Given the description of an element on the screen output the (x, y) to click on. 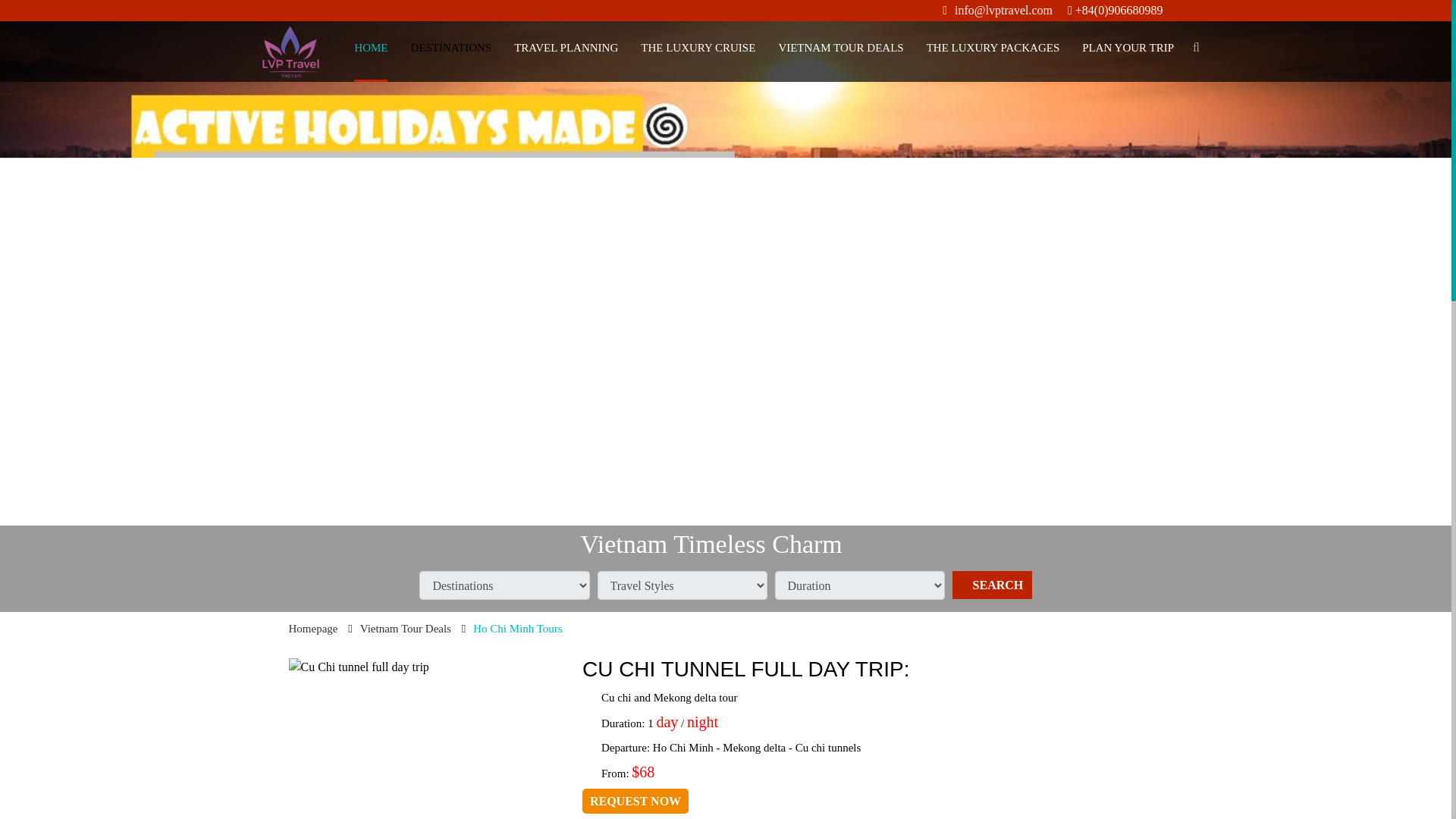
DESTINATIONS (451, 47)
TRAVEL PLANNING (565, 47)
Homepage (370, 47)
VIETNAM TOUR DEALS (839, 47)
The Luxury Cruise (697, 47)
Destinations (451, 47)
Travel Planning (565, 47)
THE LUXURY CRUISE (697, 47)
PLAN YOUR TRIP (1127, 47)
HOME (370, 47)
